Given the description of an element on the screen output the (x, y) to click on. 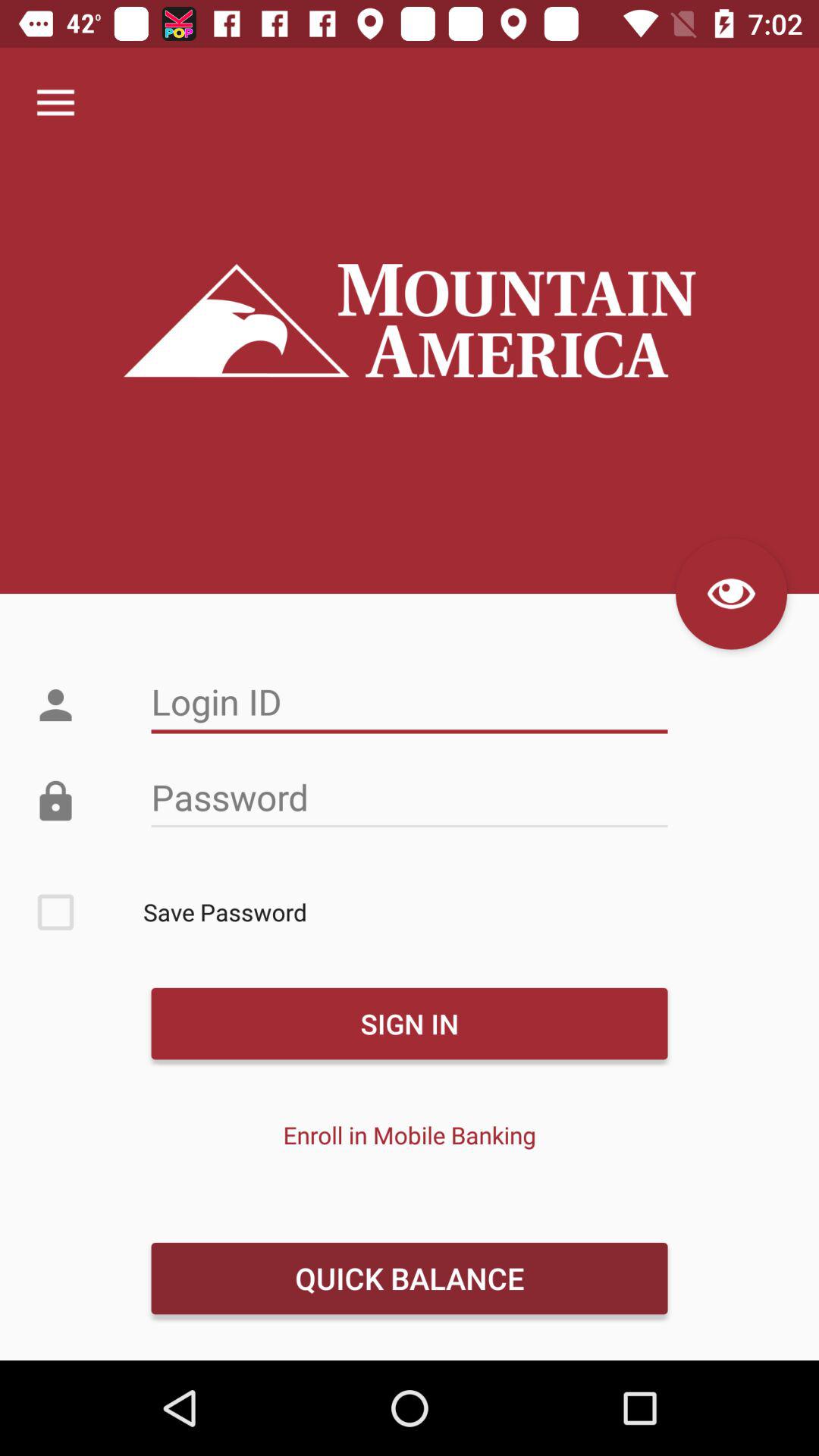
scroll to the quick balance (409, 1278)
